Given the description of an element on the screen output the (x, y) to click on. 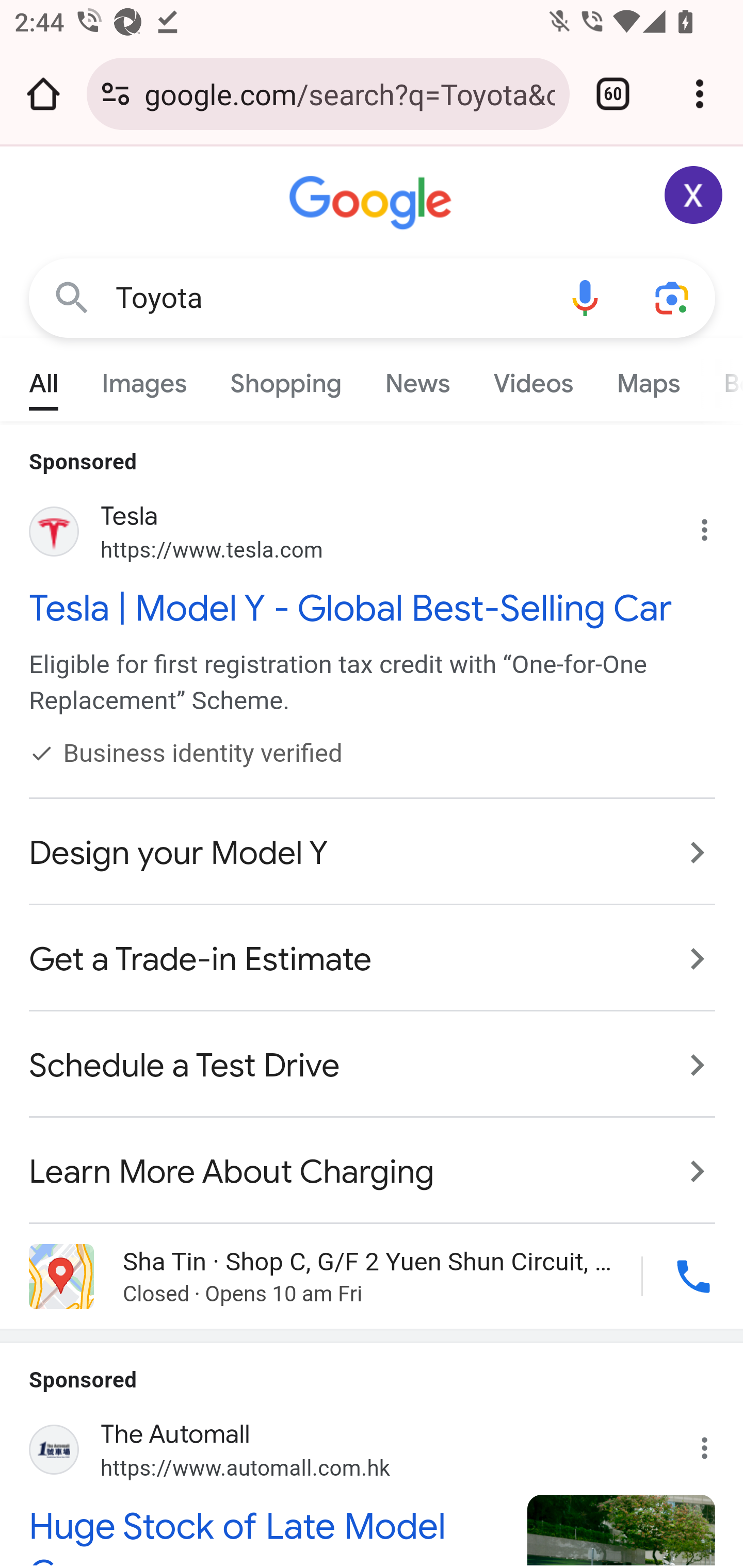
Open the home page (43, 93)
Connection is secure (115, 93)
Switch or close tabs (612, 93)
Customize and control Google Chrome (699, 93)
Google (372, 203)
Google Account: Xiaoran (zxrappiumtest@gmail.com) (694, 195)
Google Search (71, 296)
Search using your camera or photos (672, 296)
Toyota (328, 297)
Images (144, 378)
Shopping (285, 378)
News (417, 378)
Videos (533, 378)
Maps (647, 378)
Why this ad? (714, 525)
Tesla | Model Y - Global Best-Selling Car (372, 608)
Design your Model Y (372, 852)
Get a Trade-in Estimate (372, 959)
Schedule a Test Drive (372, 1065)
Learn More About Charging (372, 1161)
Why this ad? (714, 1441)
Huge Stock of Late Model Cars (266, 1534)
